Given the description of an element on the screen output the (x, y) to click on. 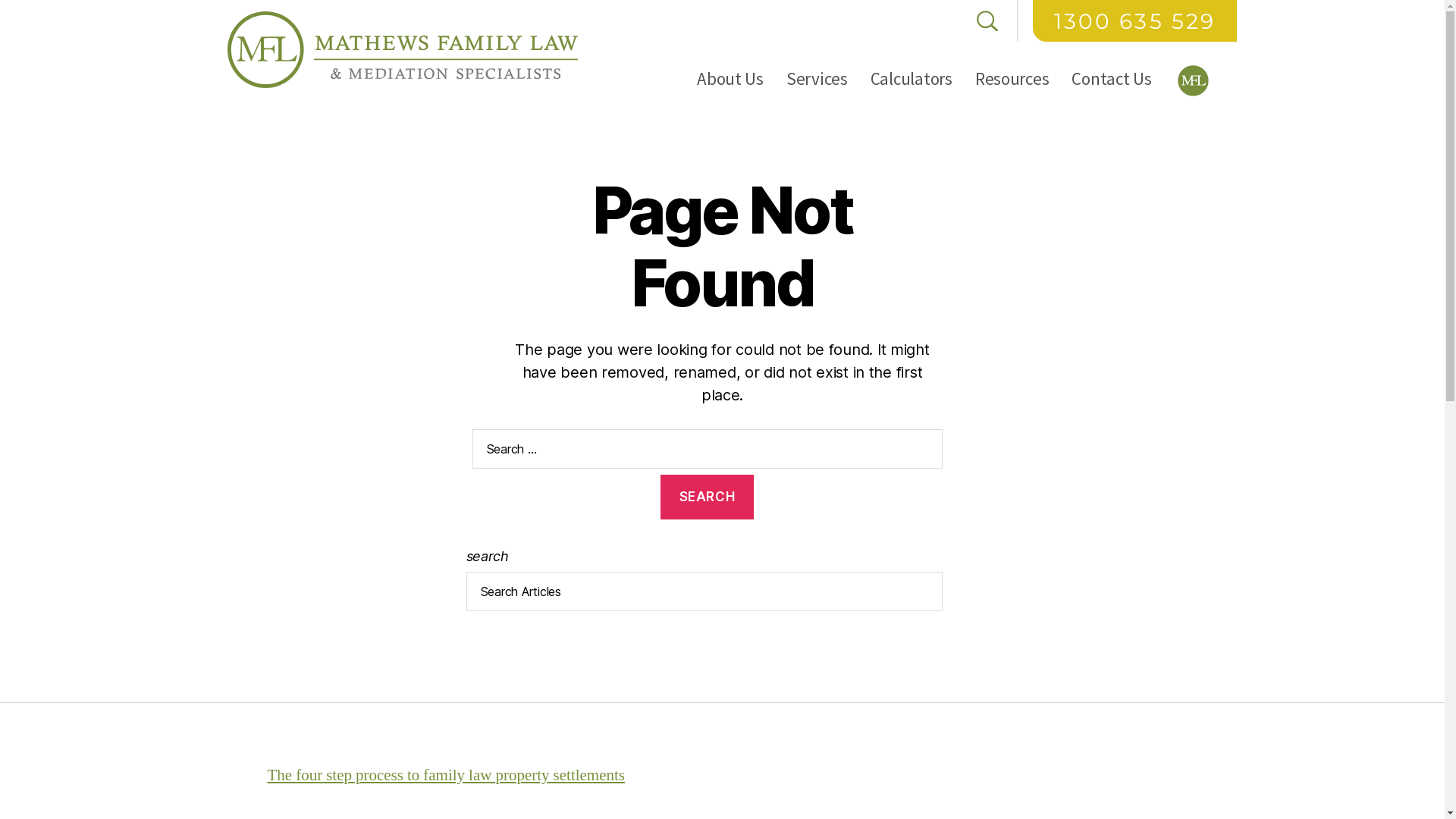
About Us Element type: text (730, 78)
Contact Us Element type: text (1111, 78)
The four step process to family law property settlements Element type: text (445, 775)
1300 635 529 Element type: text (1134, 21)
Resources Element type: text (1011, 78)
Calculators Element type: text (911, 78)
Services Element type: text (817, 78)
Search Element type: text (706, 496)
